Given the description of an element on the screen output the (x, y) to click on. 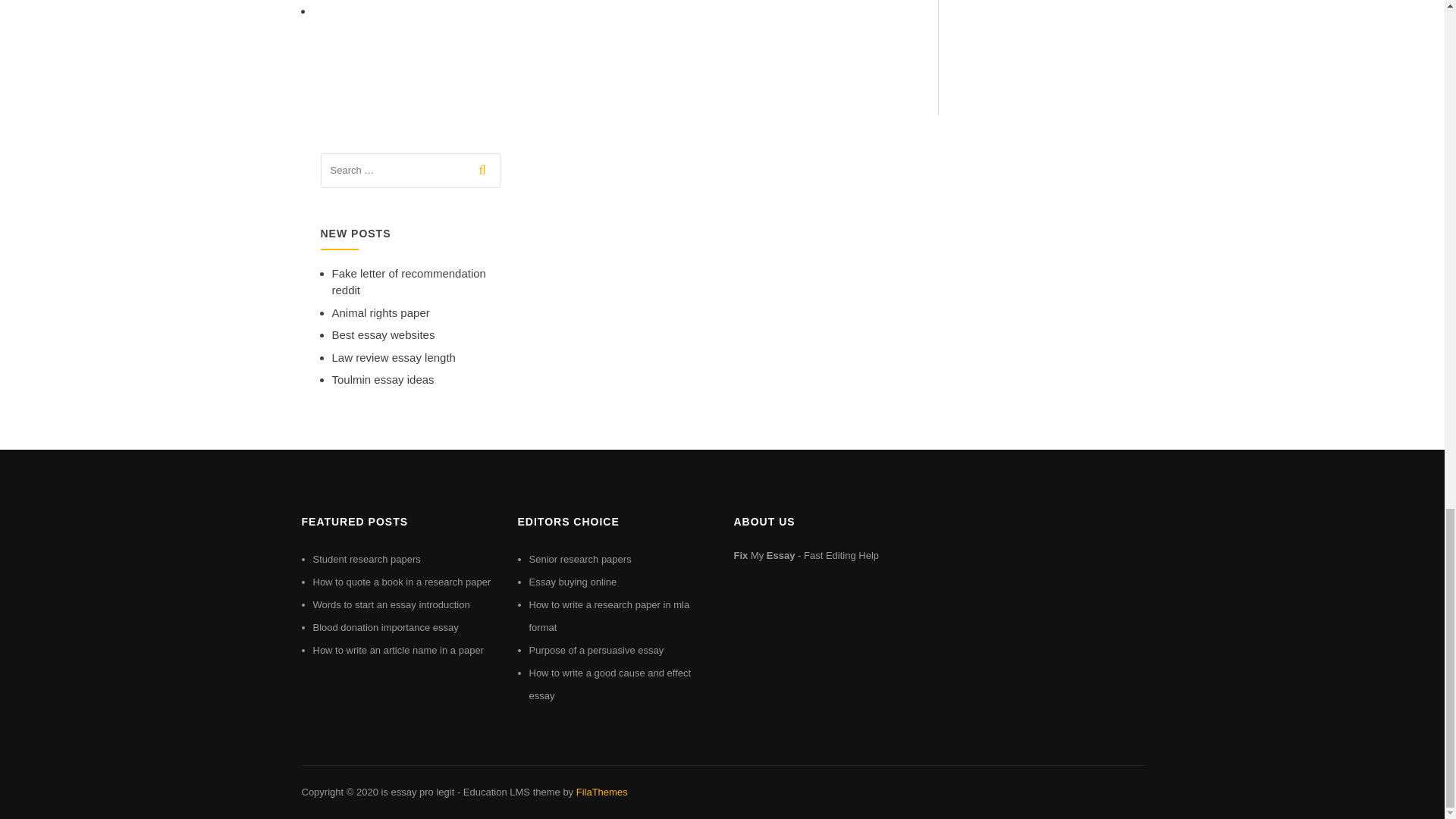
Animal rights paper (380, 312)
is essay pro legit (417, 791)
Senior research papers (580, 559)
How to write a good cause and effect essay (610, 684)
Toulmin essay ideas (382, 379)
How to quote a book in a research paper (401, 582)
Best essay websites (383, 334)
How to write a research paper in mla format (609, 615)
Student research papers (366, 559)
is essay pro legit (417, 791)
Fake letter of recommendation reddit (408, 281)
Blood donation importance essay (385, 627)
Essay buying online (573, 582)
Law review essay length (393, 357)
Words to start an essay introduction (390, 604)
